Given the description of an element on the screen output the (x, y) to click on. 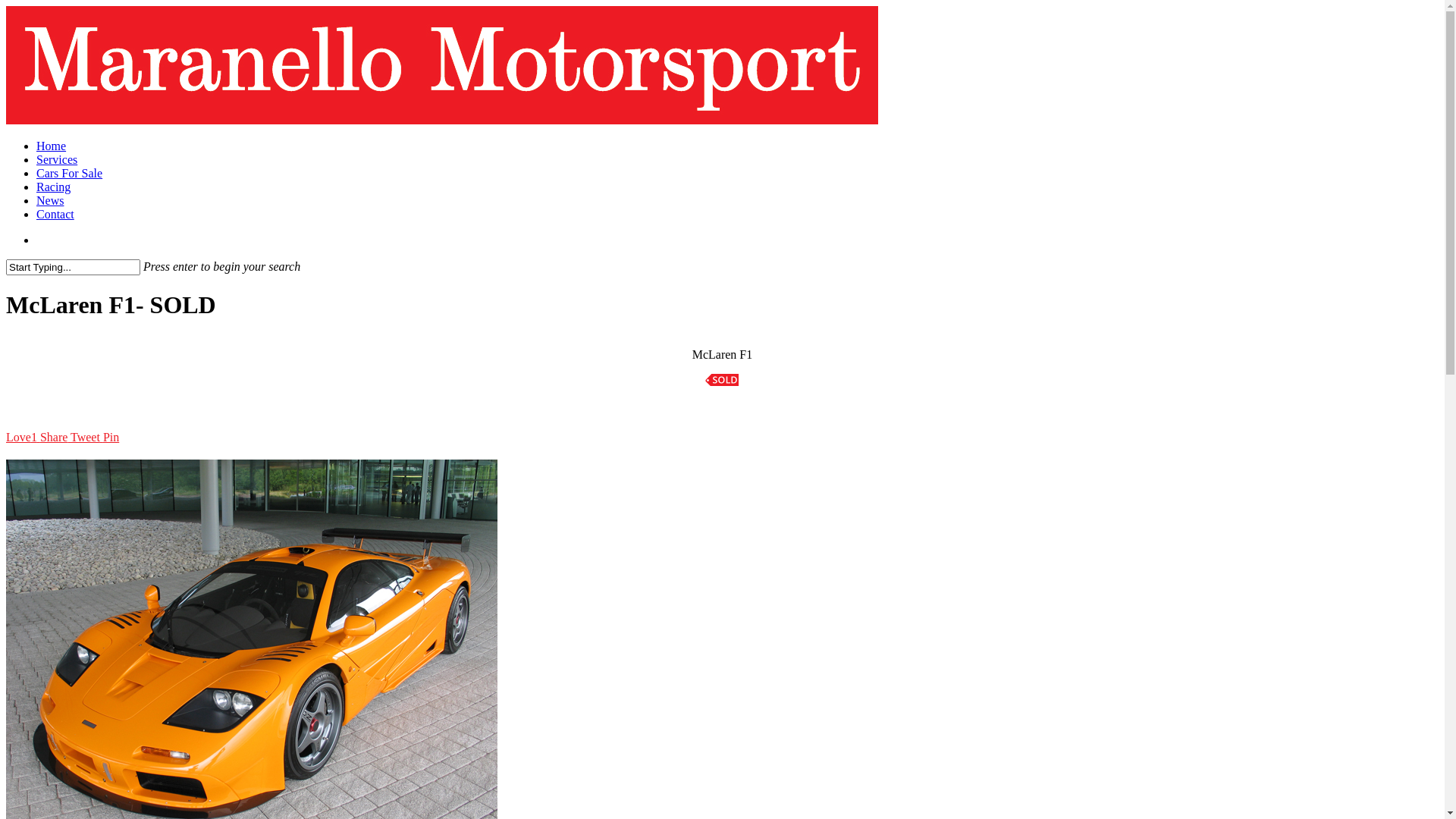
Love1 Element type: text (21, 436)
Skip to main content Element type: text (5, 5)
Share Element type: text (53, 436)
Contact Element type: text (55, 213)
Home Element type: text (50, 145)
Cars For Sale Element type: text (69, 172)
Services Element type: text (56, 159)
Pin Element type: text (111, 436)
News Element type: text (49, 200)
Close Menu Element type: text (1414, 29)
Tweet Element type: text (86, 436)
Racing Element type: text (53, 186)
